Given the description of an element on the screen output the (x, y) to click on. 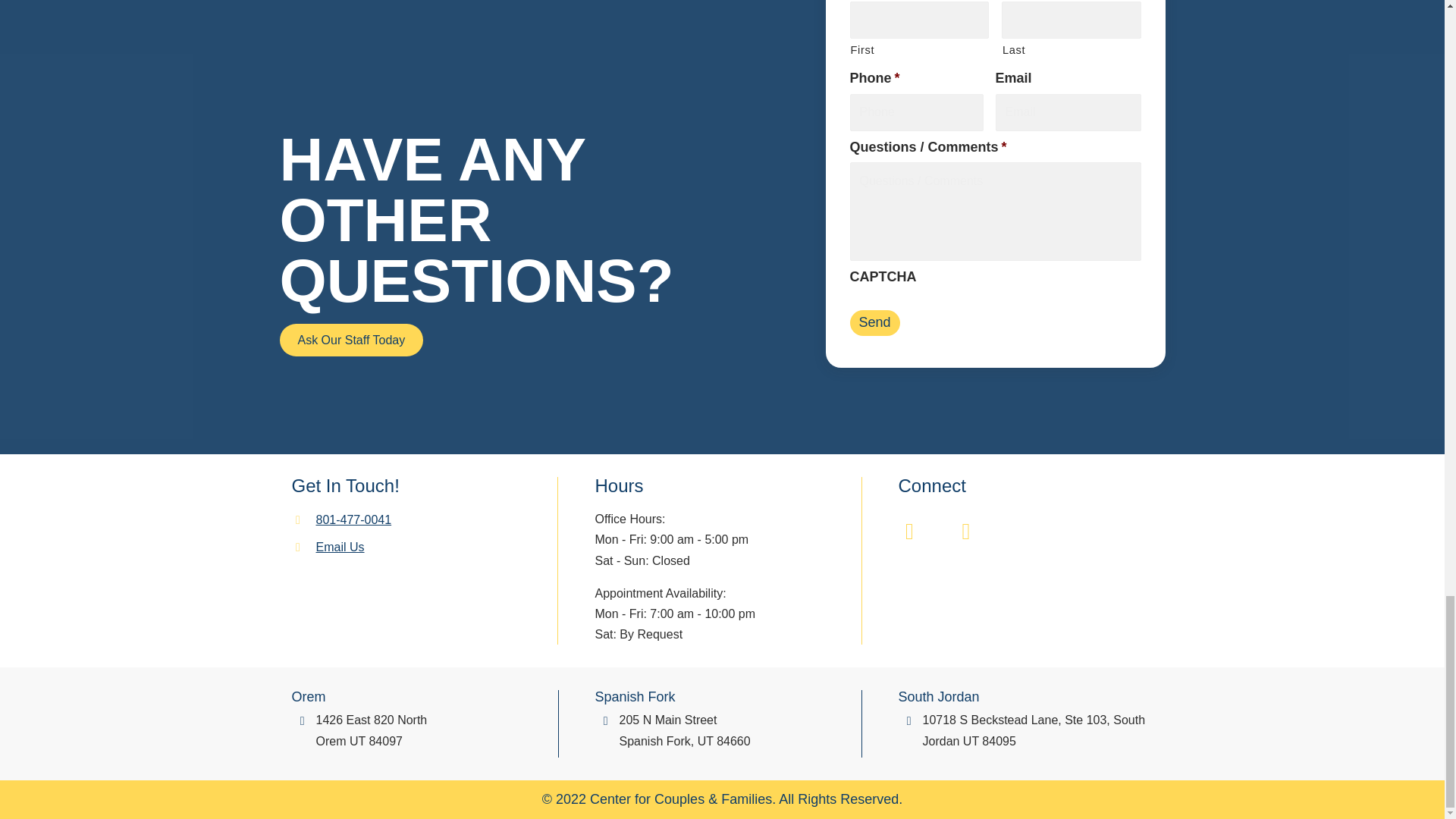
Twitter (965, 531)
Send (873, 322)
Facebook (909, 531)
